Given the description of an element on the screen output the (x, y) to click on. 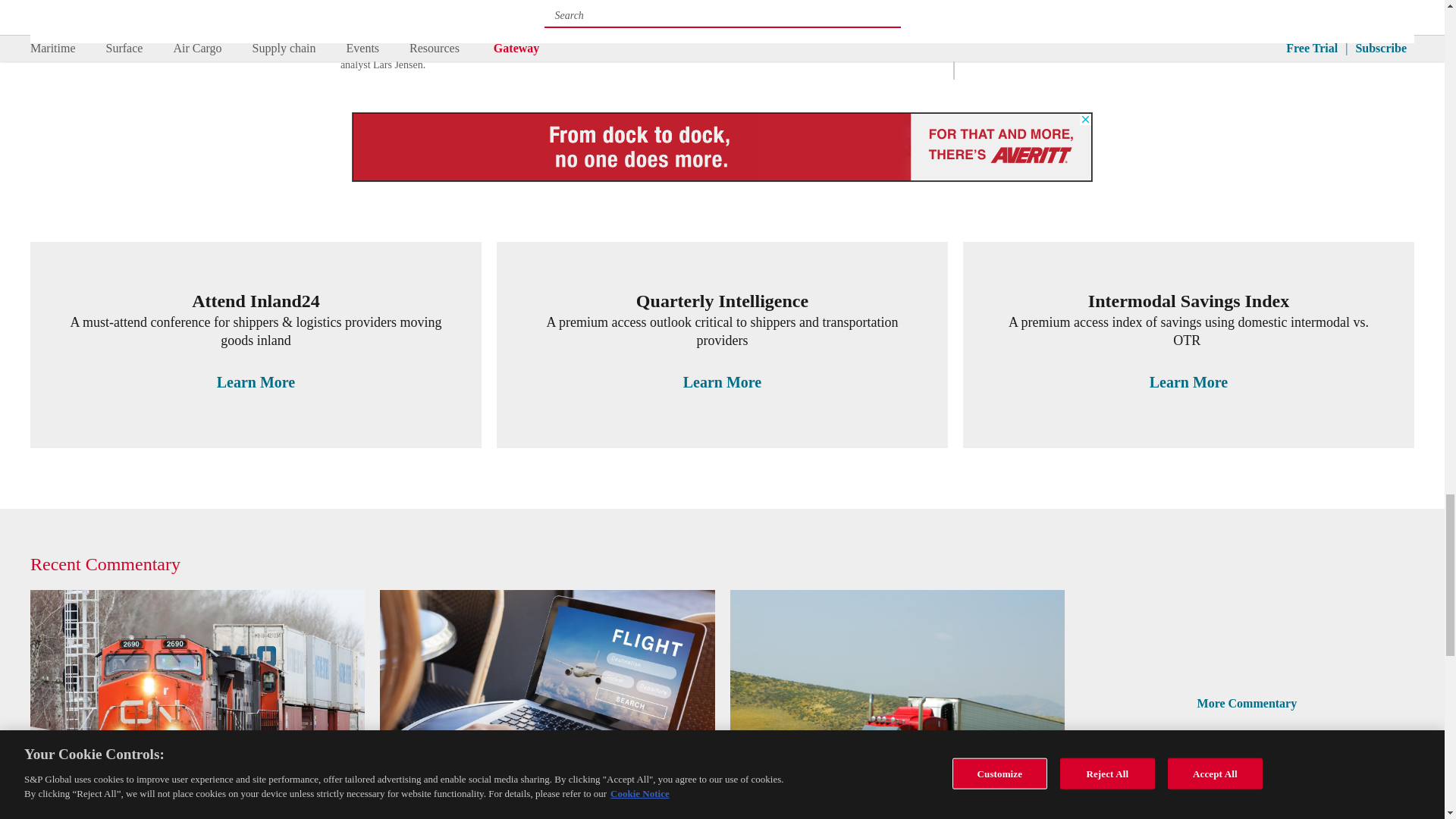
3rd party ad content (722, 146)
